Given the description of an element on the screen output the (x, y) to click on. 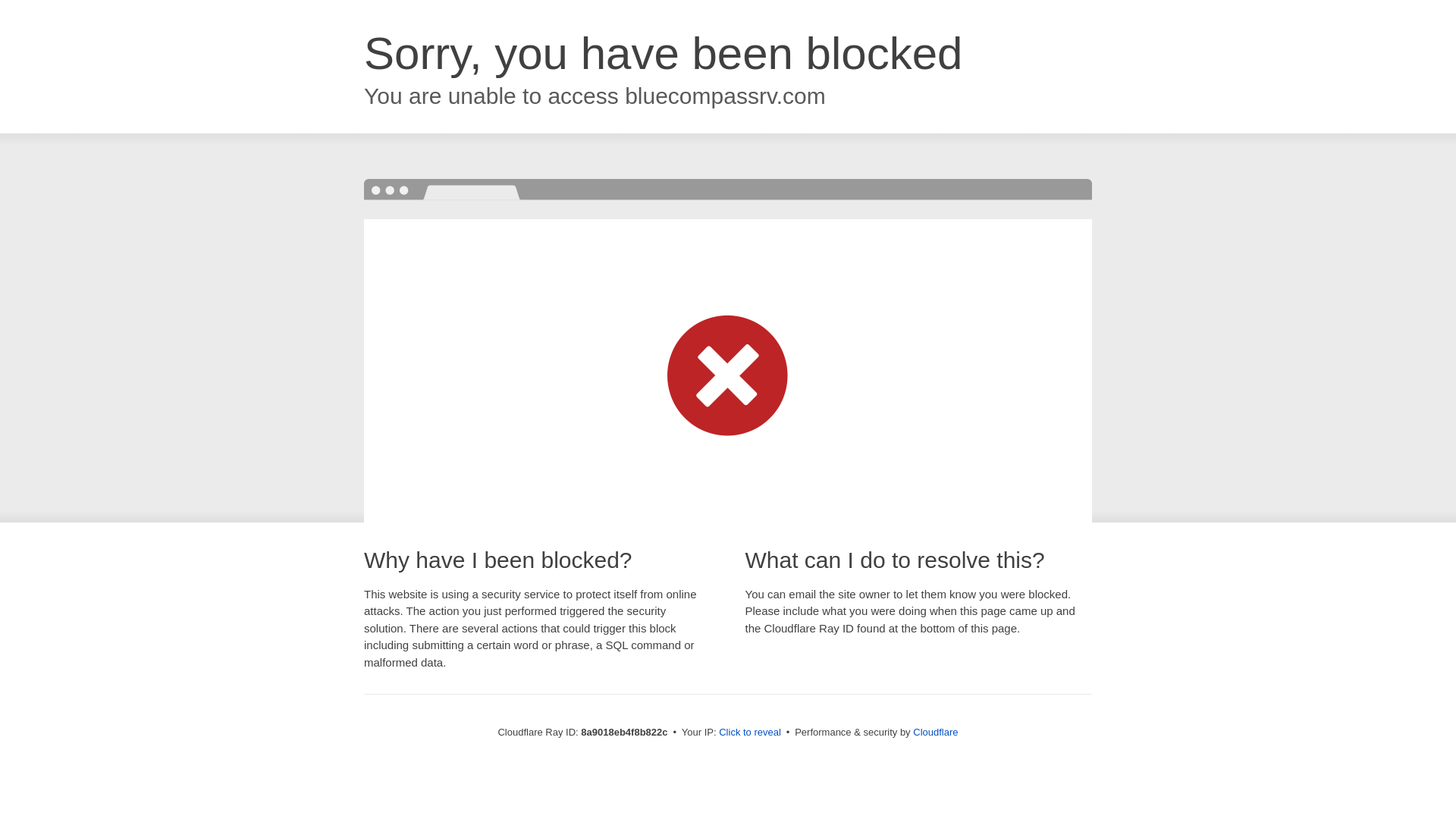
Cloudflare (935, 731)
Click to reveal (749, 732)
